Given the description of an element on the screen output the (x, y) to click on. 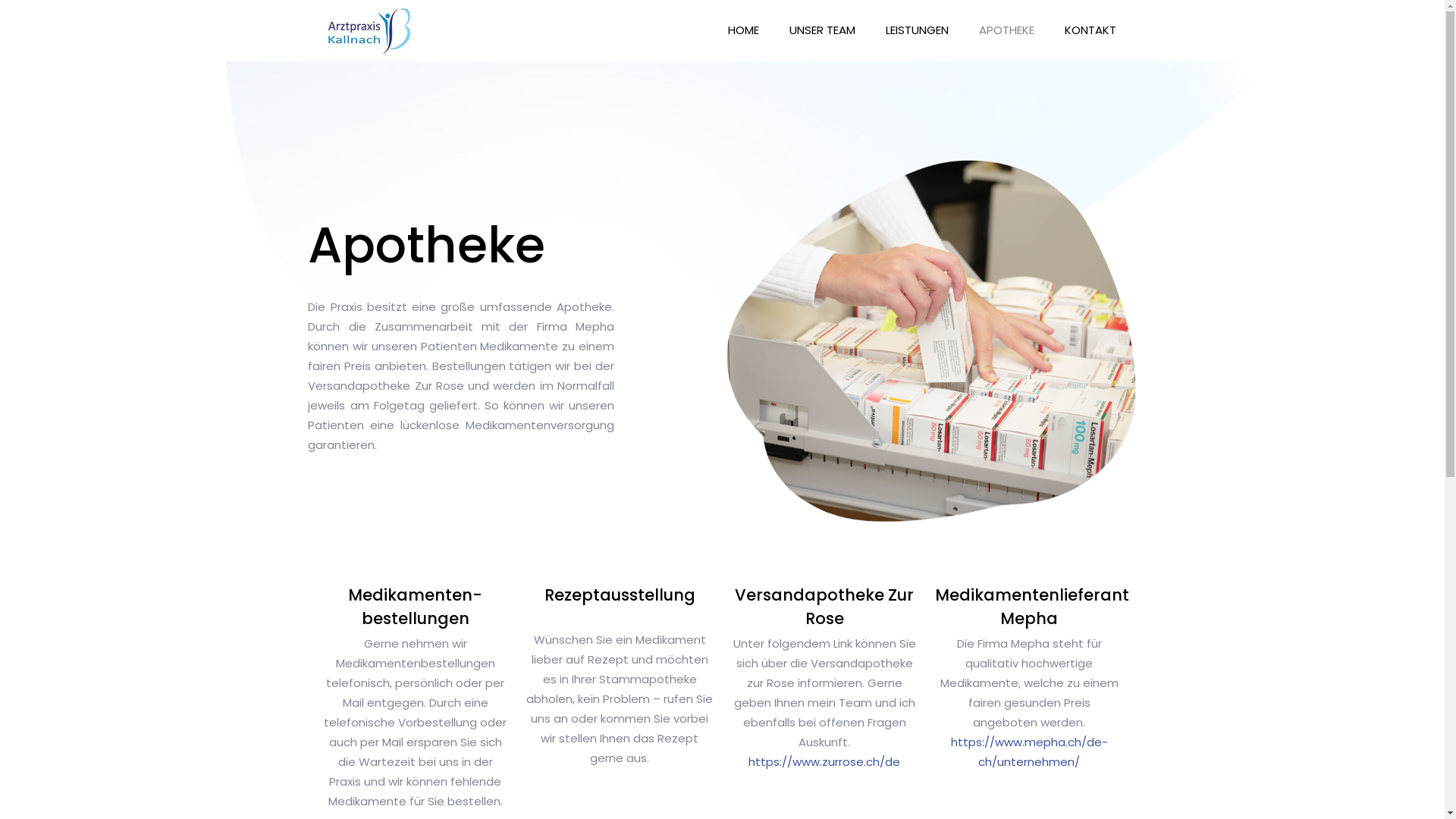
LEISTUNGEN Element type: text (916, 30)
HOME Element type: text (743, 30)
https://www.mepha.ch/de-ch/unternehmen/ Element type: text (1028, 751)
UNSER TEAM Element type: text (822, 30)
KONTAKT Element type: text (1090, 30)
APOTHEKE Element type: text (1006, 30)
https://www.zurrose.ch/de Element type: text (824, 761)
